Given the description of an element on the screen output the (x, y) to click on. 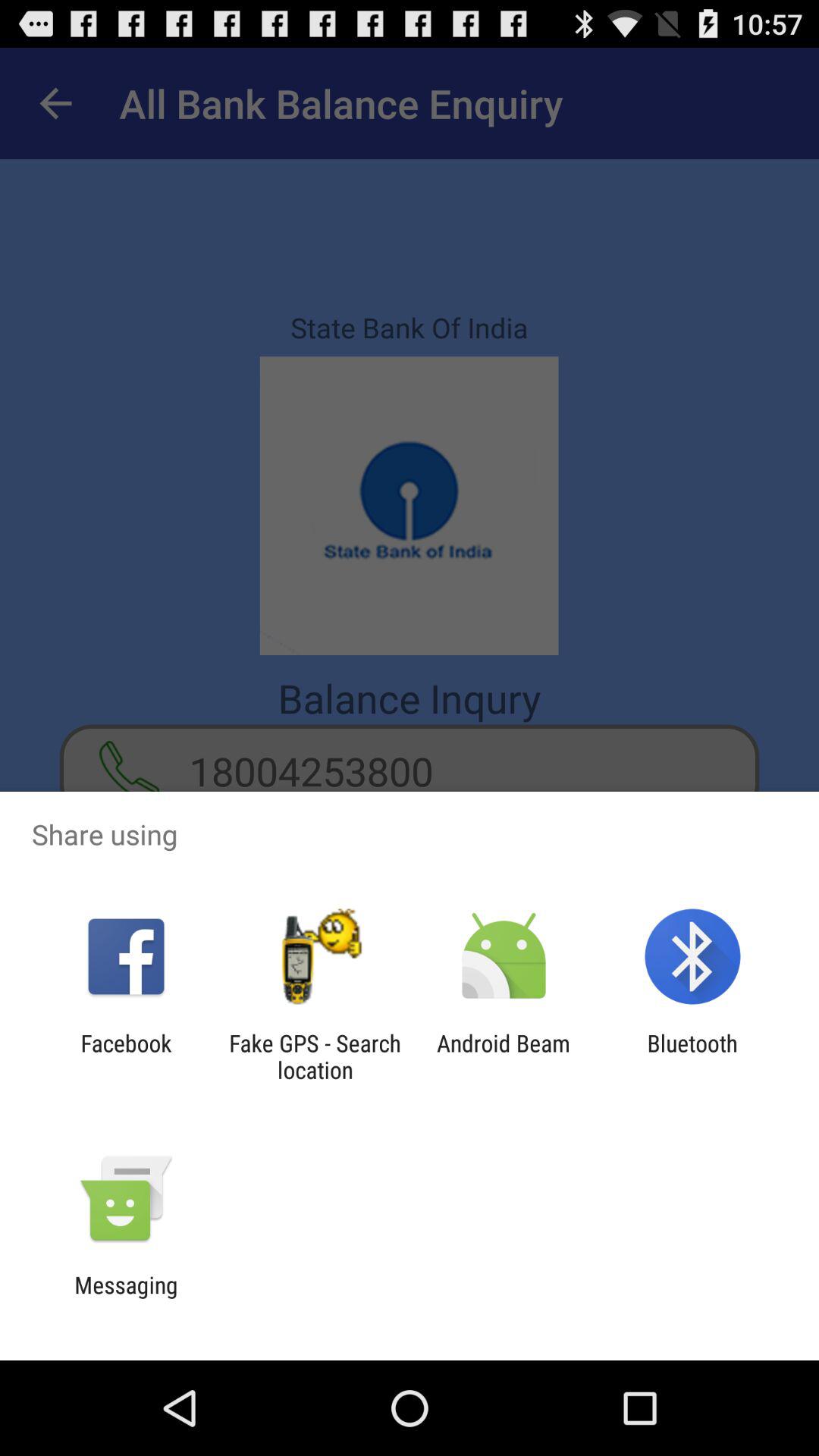
press the item next to android beam item (314, 1056)
